Given the description of an element on the screen output the (x, y) to click on. 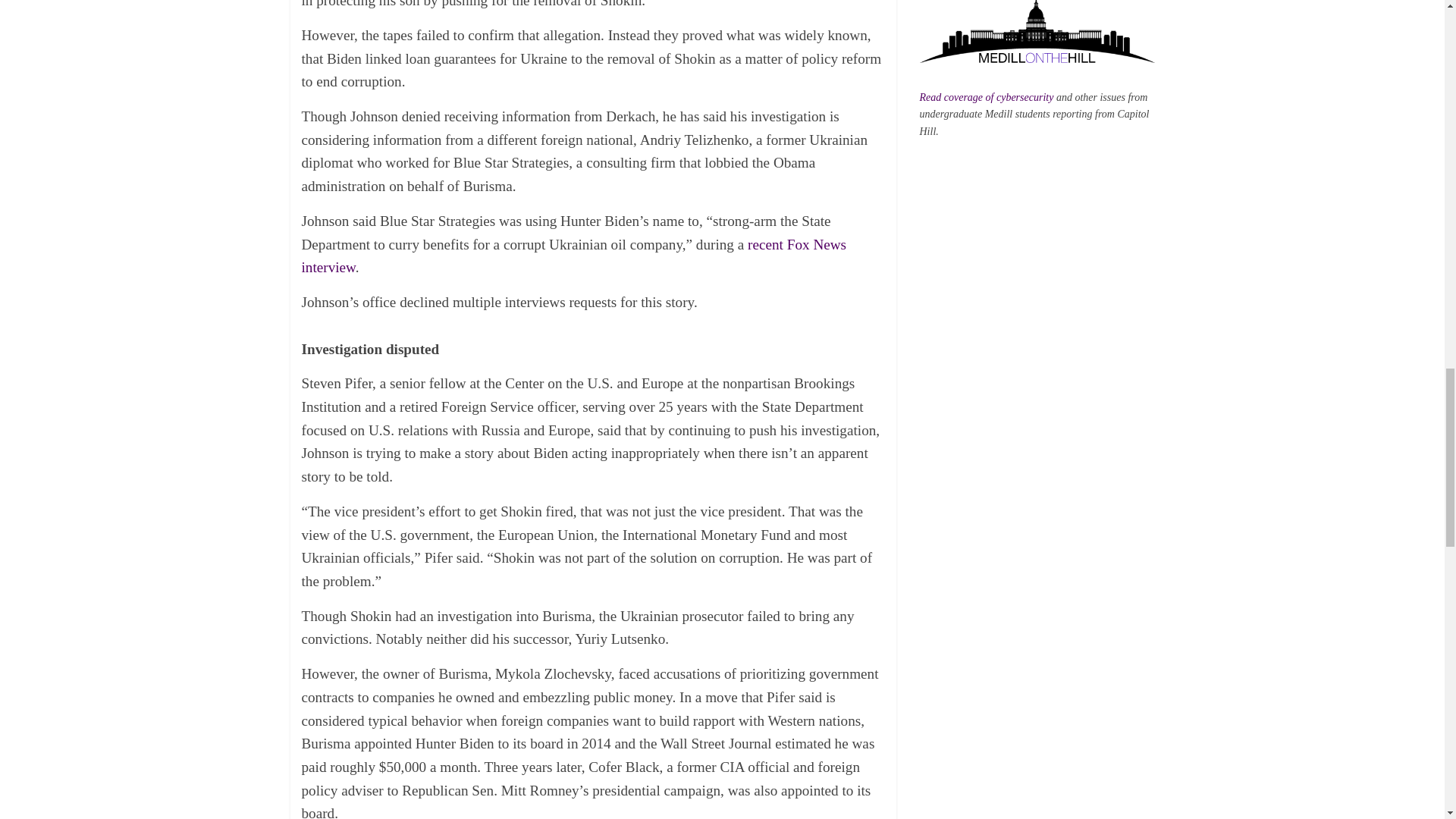
recent Fox News interview (574, 256)
